Given the description of an element on the screen output the (x, y) to click on. 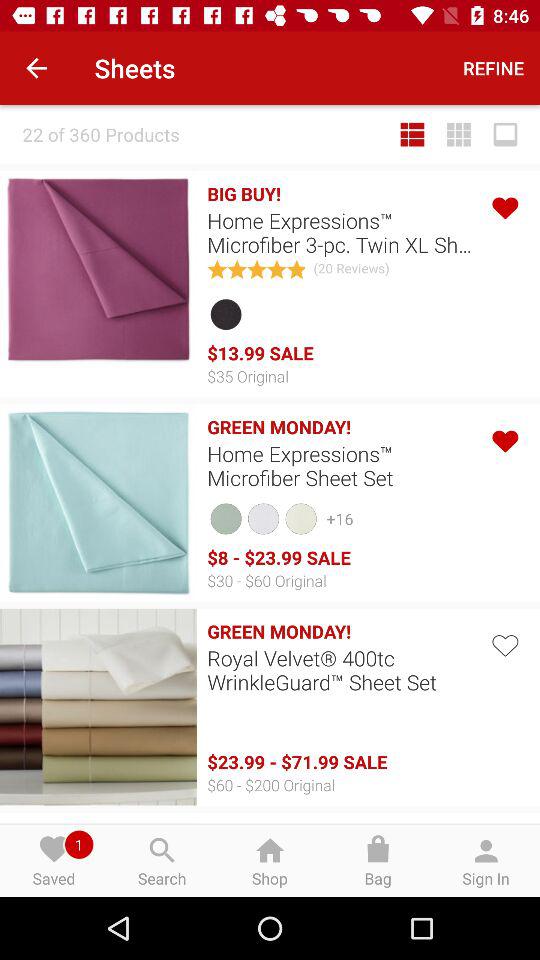
this like app (504, 205)
